Given the description of an element on the screen output the (x, y) to click on. 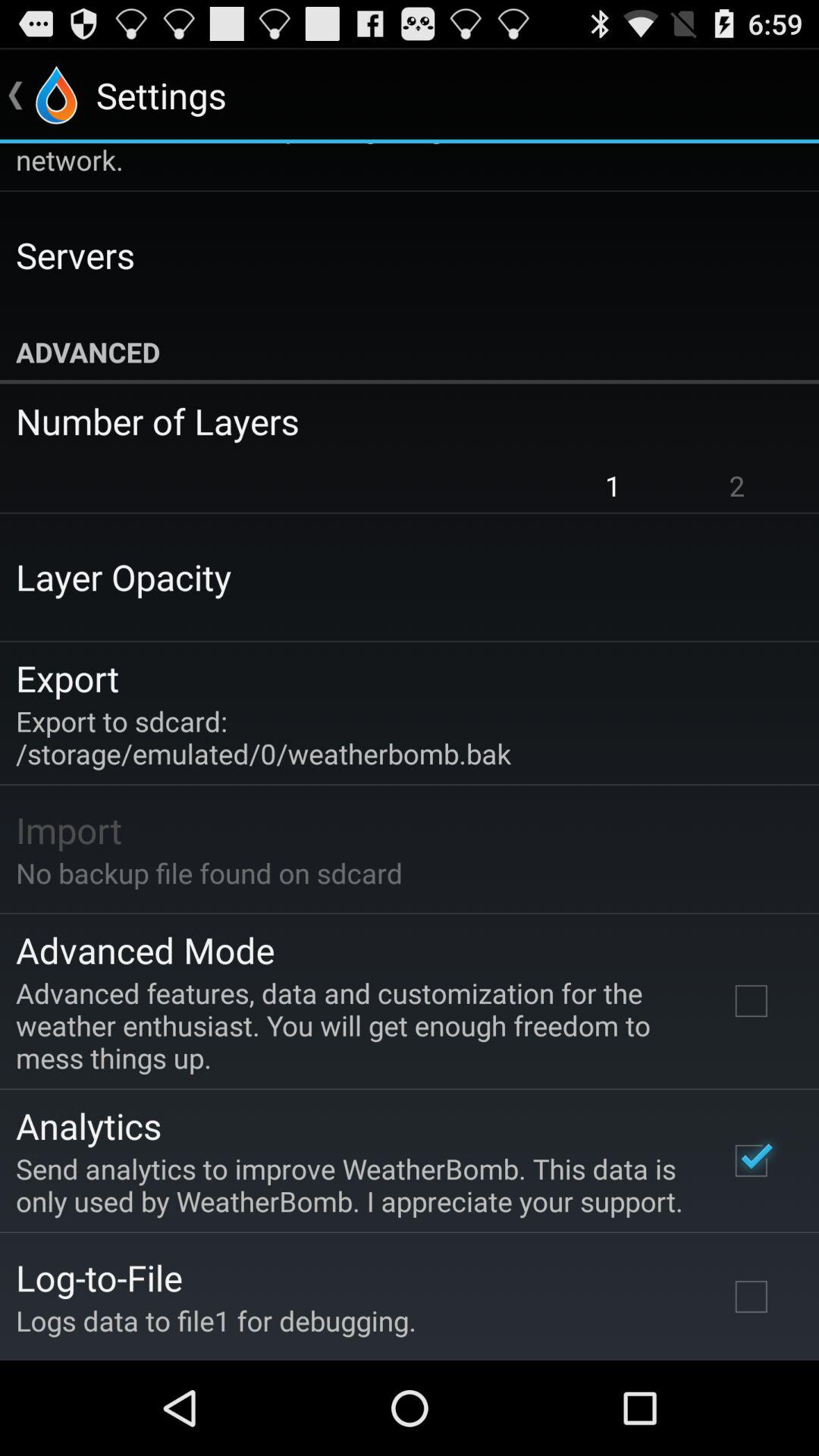
choose the icon below number of layers item (737, 485)
